Given the description of an element on the screen output the (x, y) to click on. 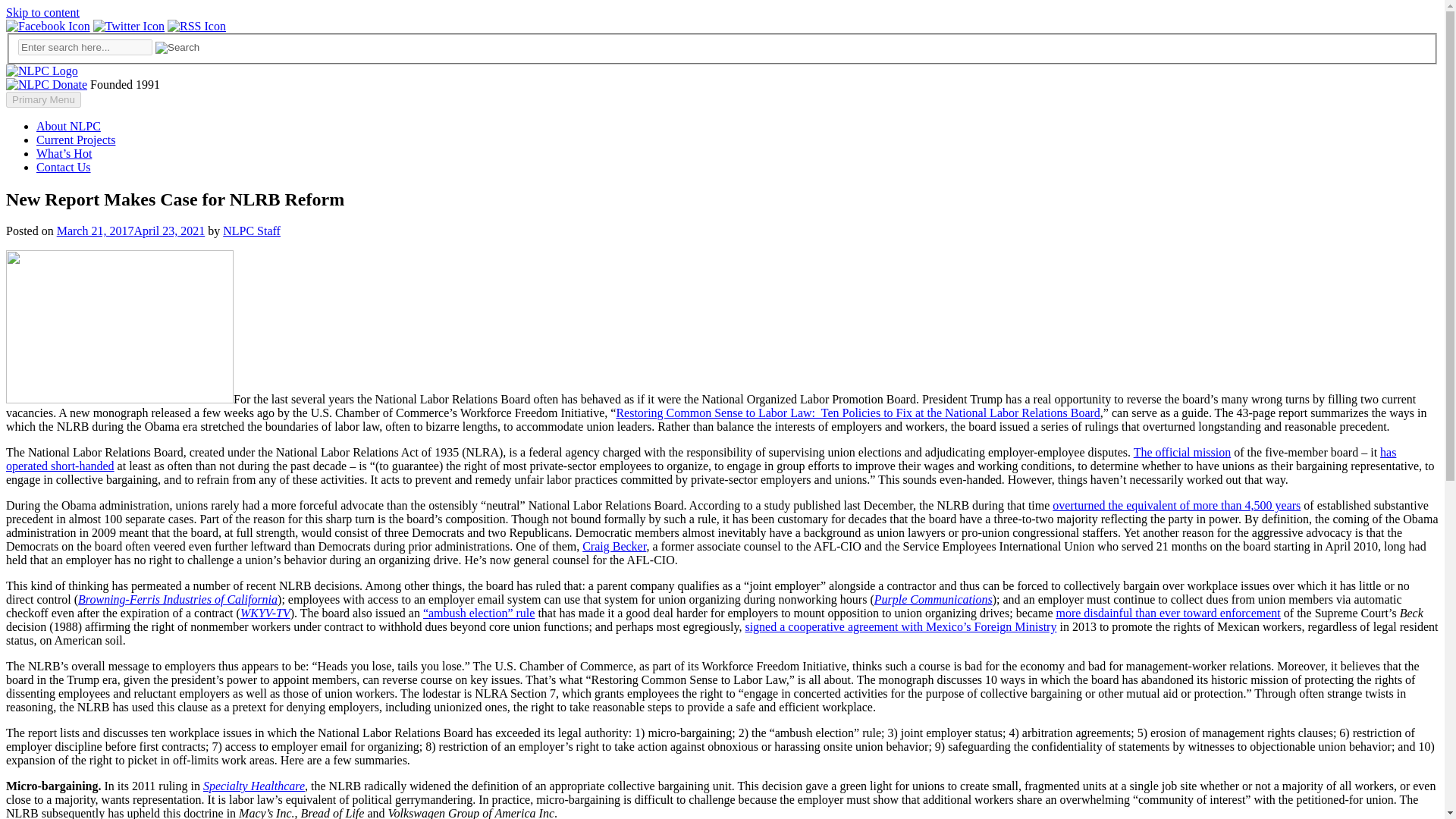
NLPC Staff (251, 230)
Contact Us (63, 166)
About NLPC (68, 125)
WKYV-TV (264, 612)
overturned the equivalent of more than 4,500 years (1176, 504)
March 21, 2017April 23, 2021 (130, 230)
Browning-Ferris Industries of California (178, 599)
Craig Becker (614, 545)
The official mission (1182, 451)
Skip to content (42, 11)
more disdainful than ever toward enforcement (1167, 612)
Purple Communications (933, 599)
has operated short-handed (700, 458)
Primary Menu (43, 99)
